Given the description of an element on the screen output the (x, y) to click on. 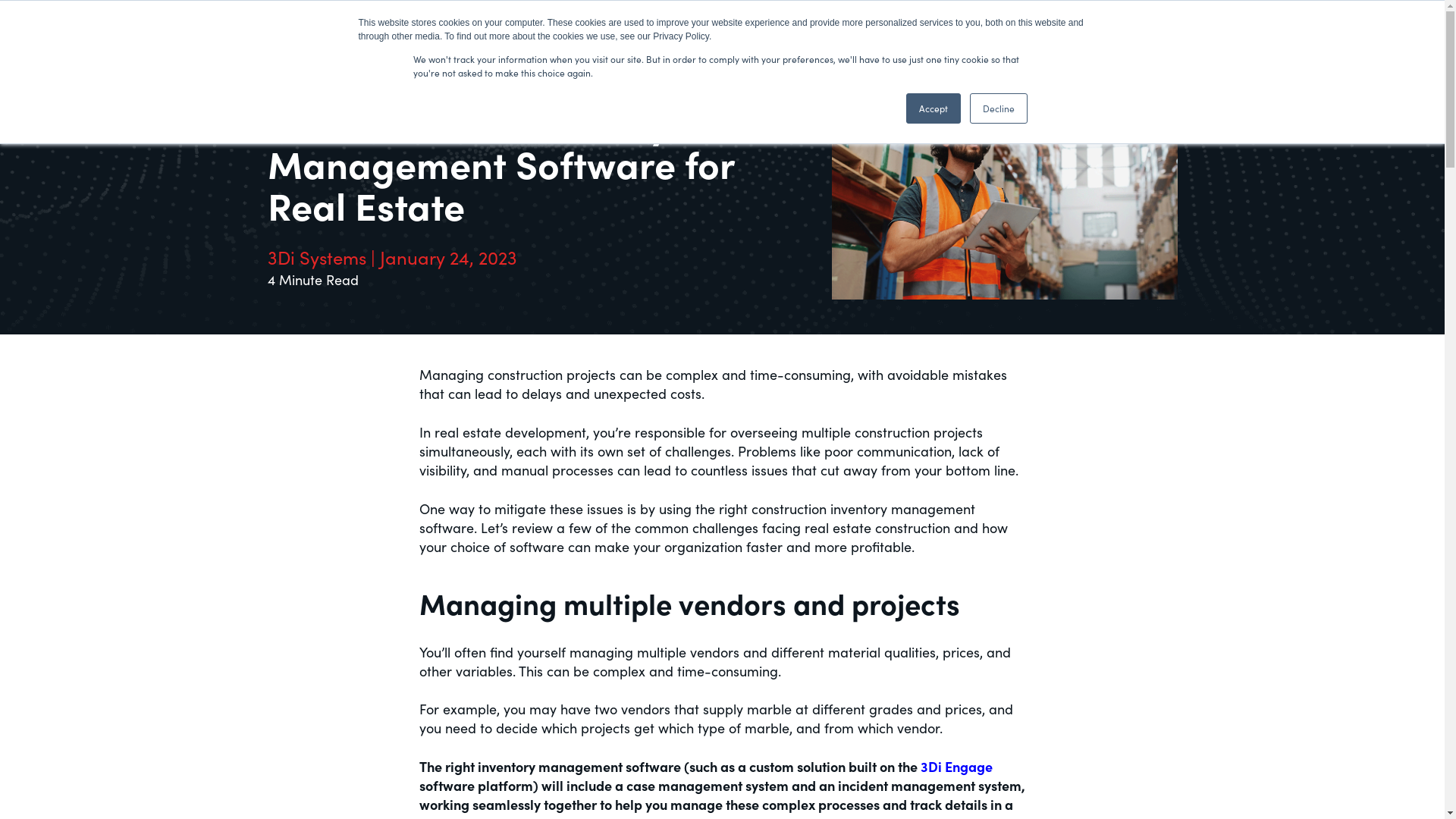
View Products Element type: text (1129, 26)
3Di Engage Element type: text (956, 765)
Housing Element type: text (569, 26)
3Di-Insights Element type: hover (327, 27)
Citizen Engagement Element type: text (682, 26)
Decline Element type: text (997, 108)
Public Safety Element type: text (807, 26)
Accept Element type: text (932, 108)
